Given the description of an element on the screen output the (x, y) to click on. 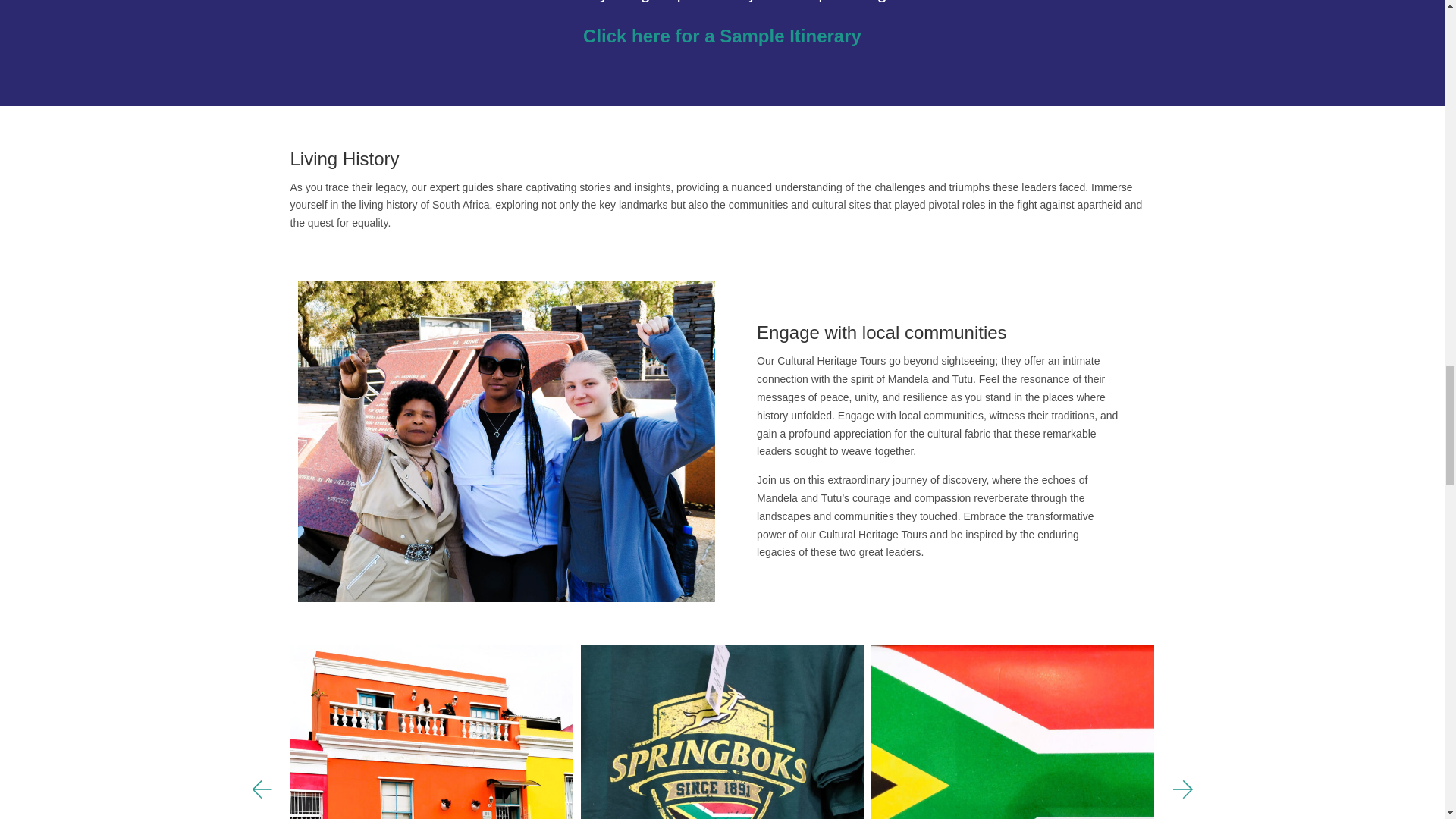
Click here for a Sample Itinerary (722, 35)
click here (1040, 1)
